Given the description of an element on the screen output the (x, y) to click on. 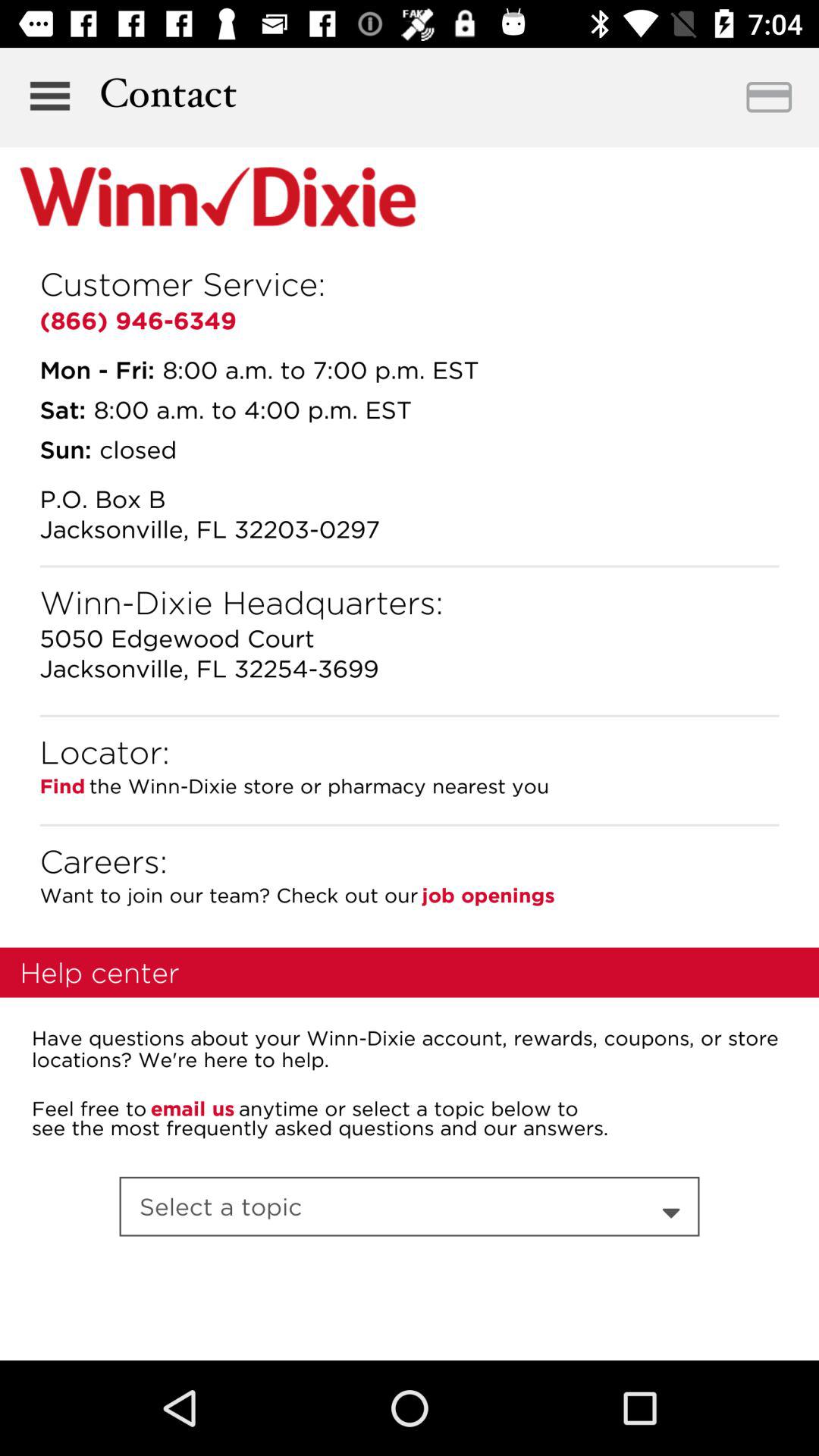
click the item above the p o box icon (65, 449)
